Given the description of an element on the screen output the (x, y) to click on. 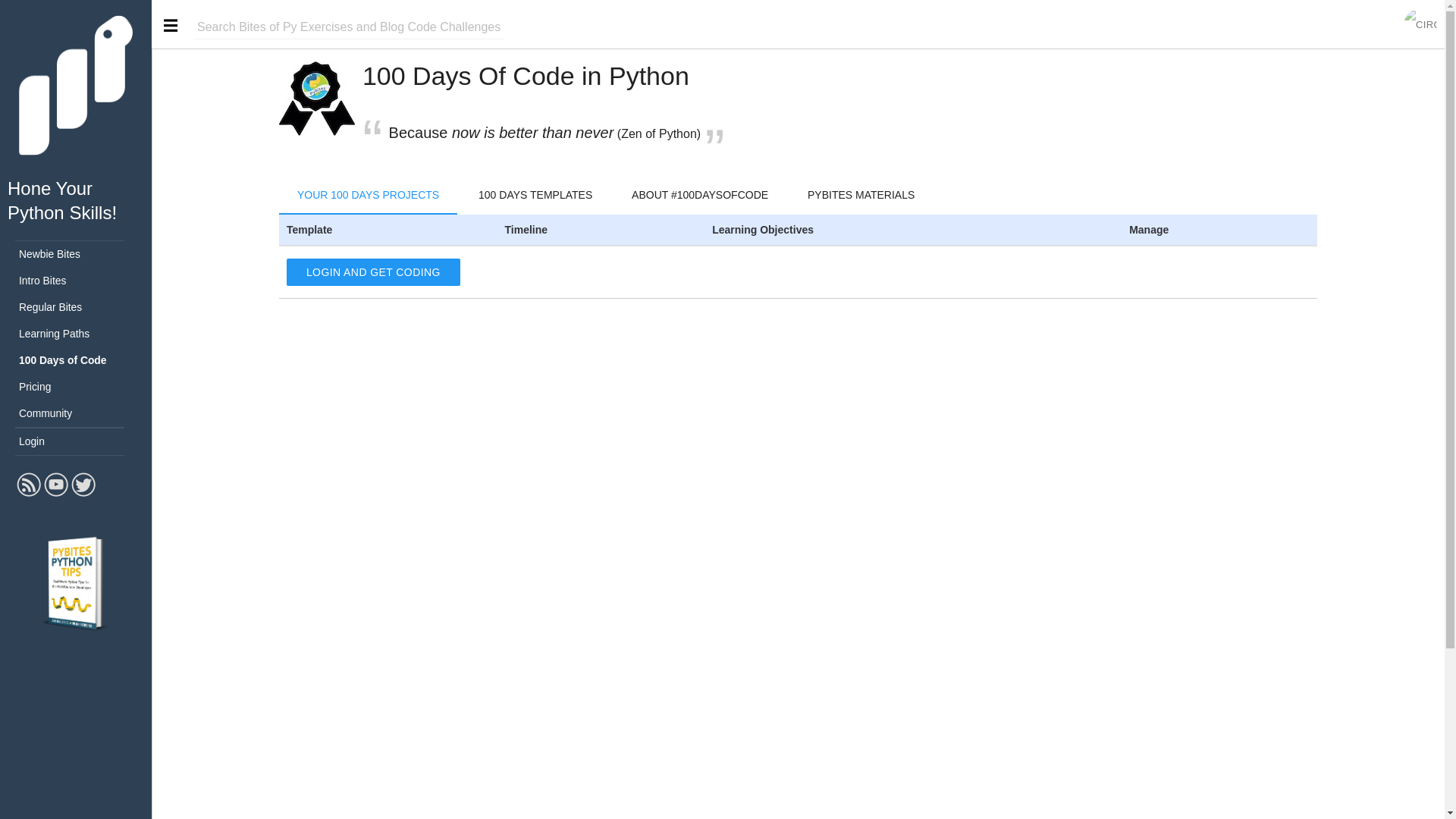
Join our Community (1420, 24)
Newbie Bites (75, 253)
PyBites Platform homepage (75, 145)
Intro Bites (75, 280)
Regular Bites (75, 307)
Login (75, 441)
100 Days of Code (75, 360)
PYBITES MATERIALS (861, 194)
Check out our YouTube Channel ... (55, 494)
Community (75, 413)
YOUR 100 DAYS PROJECTS (368, 194)
Pricing (75, 386)
LOGIN AND GET CODING (373, 271)
Follow us on Twitter ... (83, 494)
What do you want to learn next? (348, 27)
